Given the description of an element on the screen output the (x, y) to click on. 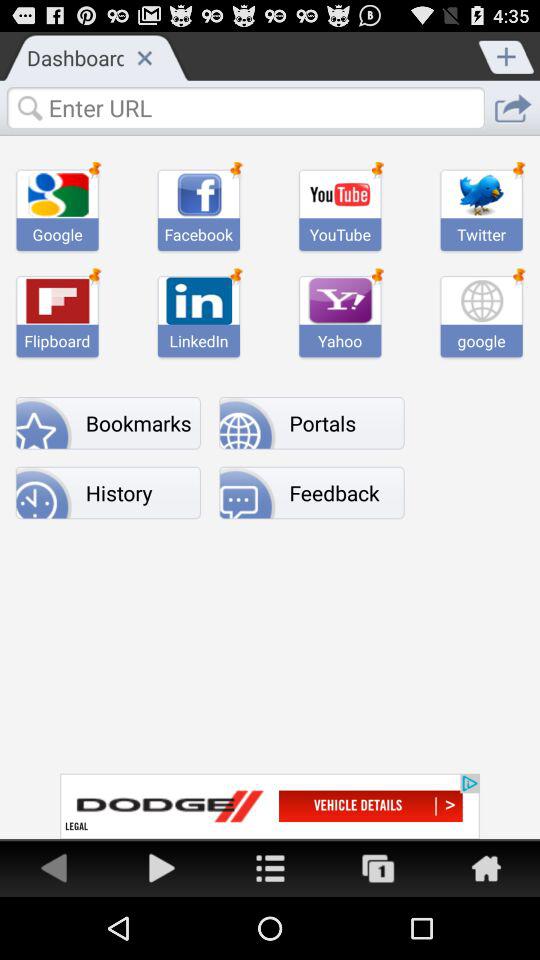
search button (245, 107)
